Given the description of an element on the screen output the (x, y) to click on. 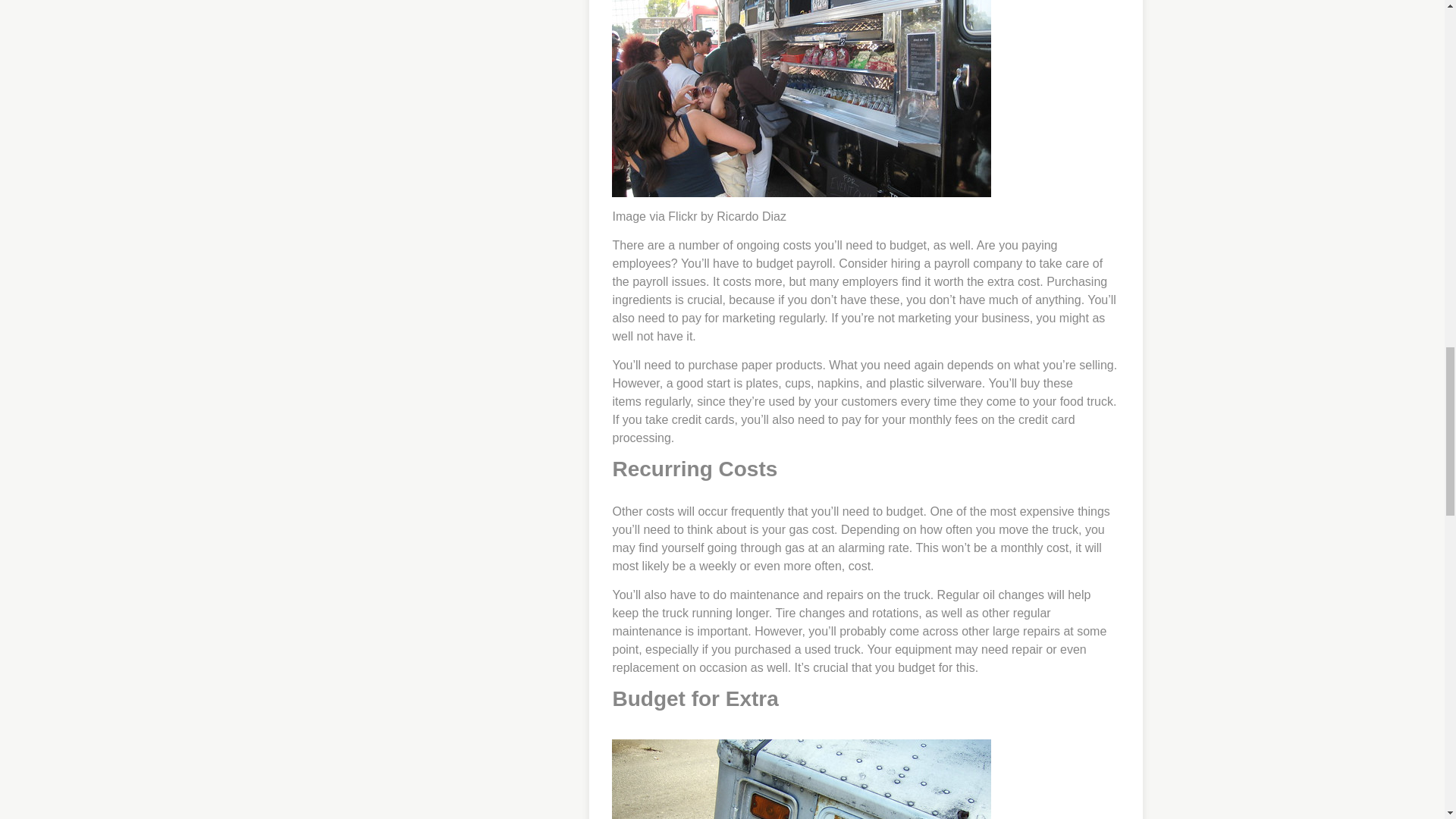
Flickr (682, 215)
